Given the description of an element on the screen output the (x, y) to click on. 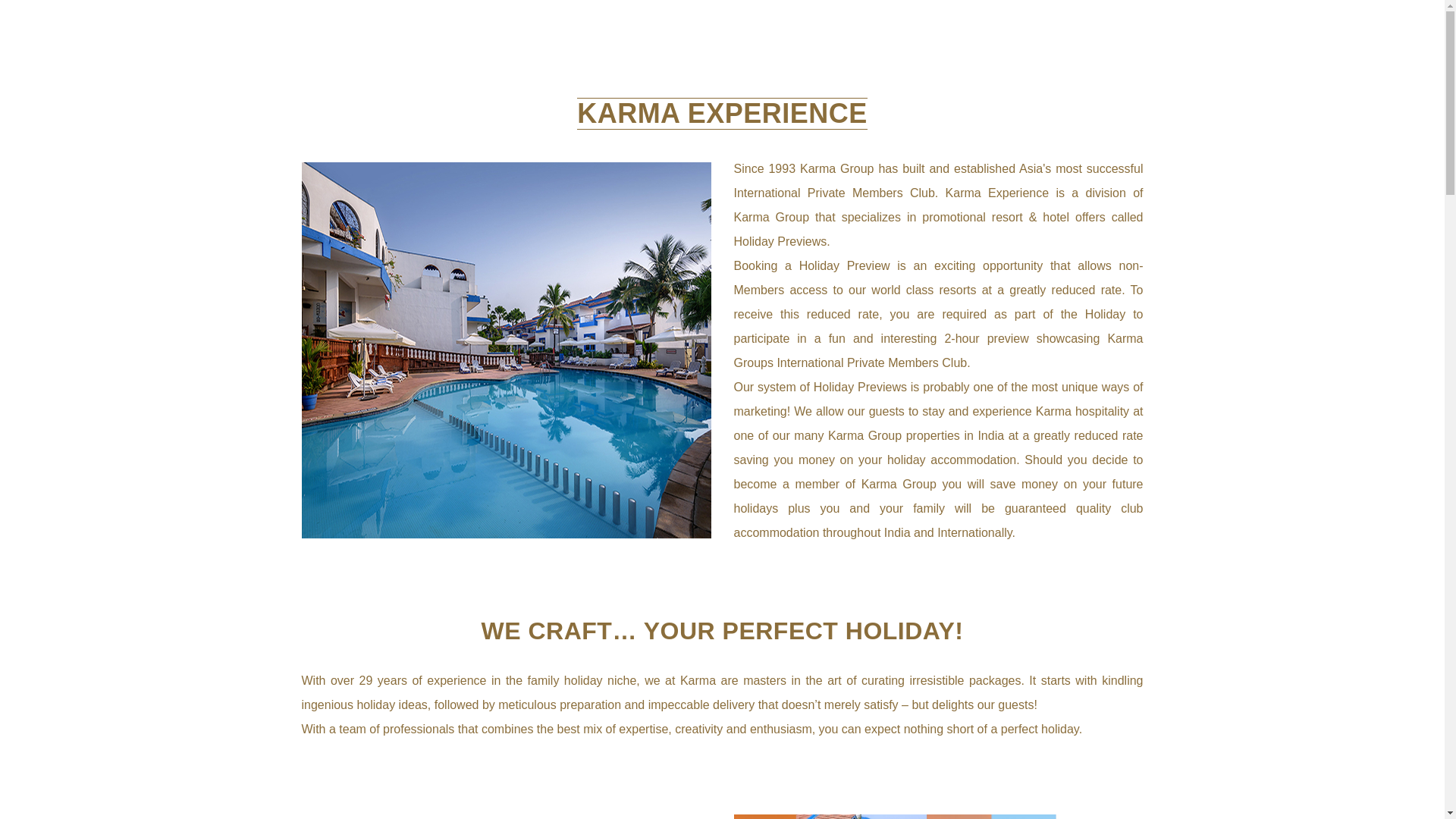
MEMBERSHIP (1096, 54)
ABOUT (681, 54)
DESTINATIONS (788, 54)
BOOKING (992, 54)
CONTACT (901, 54)
HOME (606, 54)
